Given the description of an element on the screen output the (x, y) to click on. 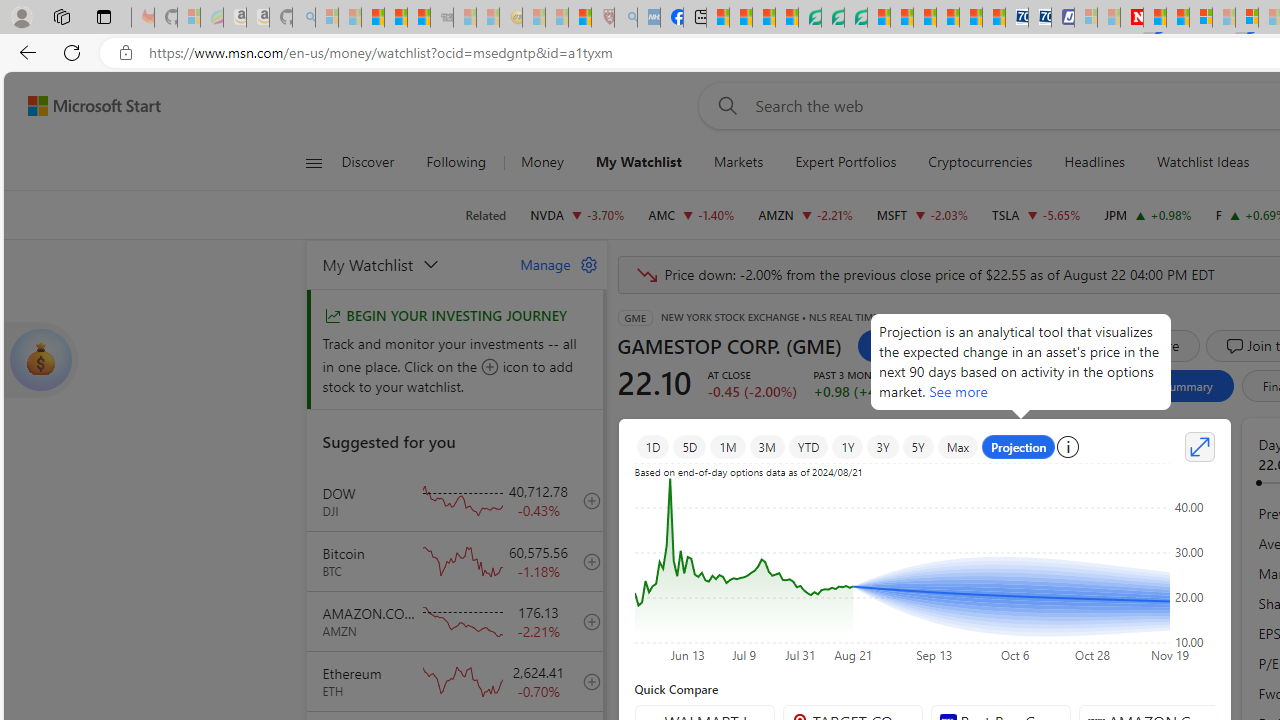
Recipes - MSN - Sleeping (534, 17)
LendingTree - Compare Lenders (809, 17)
Expert Portfolios (845, 162)
Compare (1140, 345)
Microsoft Word - consumer-privacy address update 2.2021 (855, 17)
1M (728, 446)
MSFT MICROSOFT CORPORATION decrease 415.55 -8.59 -2.03% (922, 214)
TSLA TESLA, INC. decrease 210.66 -12.61 -5.65% (1036, 214)
Cryptocurrencies (980, 162)
Discover (375, 162)
Class: recharts-surface (923, 567)
1Y (848, 446)
